Given the description of an element on the screen output the (x, y) to click on. 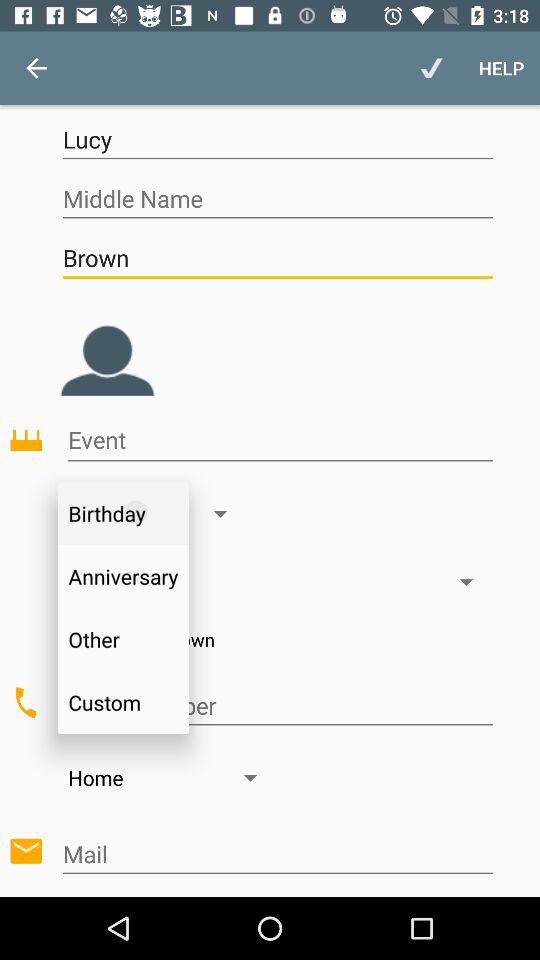
this is a celebratis (280, 439)
